Given the description of an element on the screen output the (x, y) to click on. 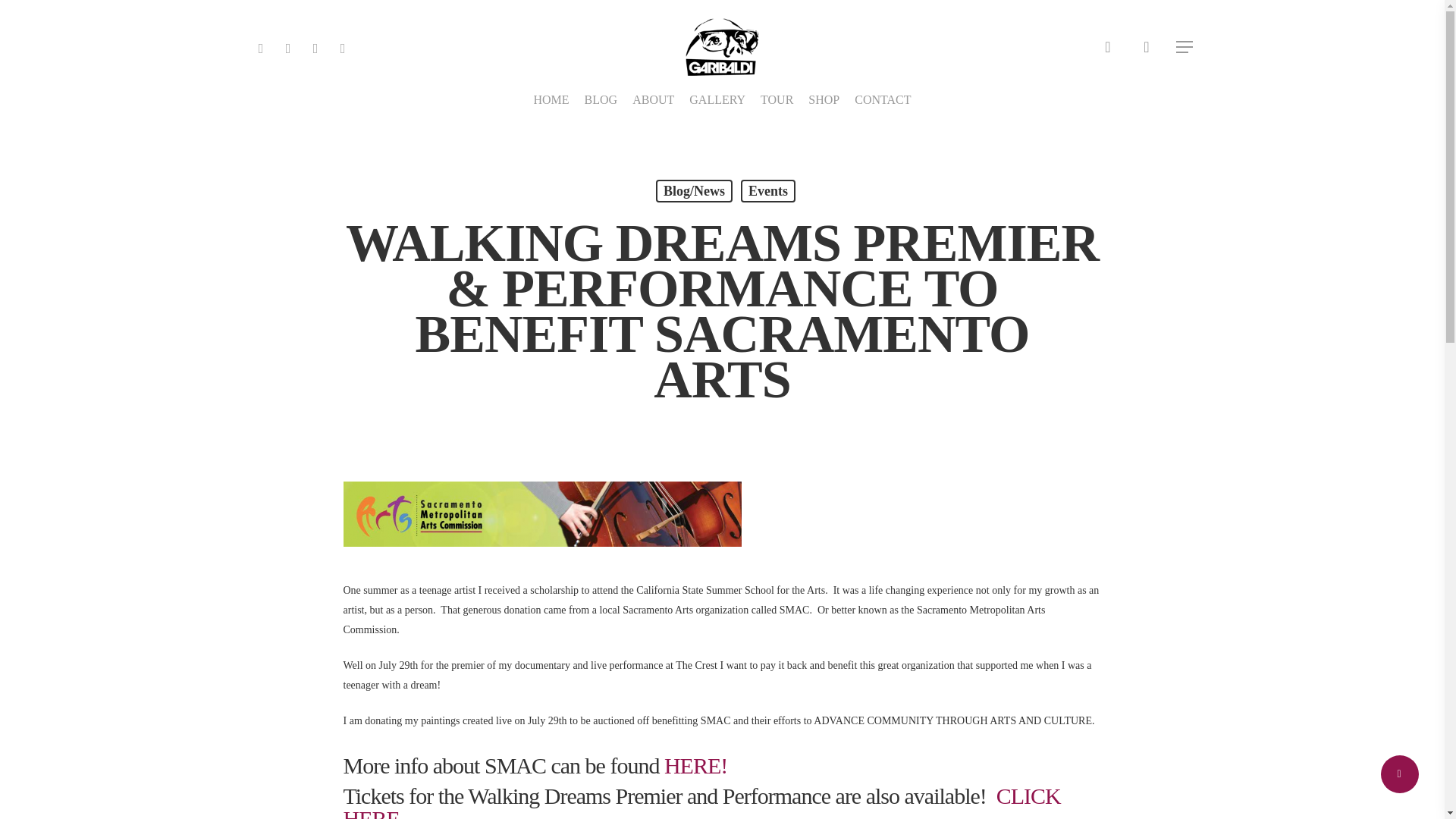
INSTAGRAM (342, 46)
SHOP (824, 100)
BLOG (601, 100)
HOME (550, 100)
ABOUT (652, 100)
FACEBOOK (288, 46)
TOUR (776, 100)
CLICK HERE (700, 800)
YOUTUBE (315, 46)
HERE! (694, 765)
